Given the description of an element on the screen output the (x, y) to click on. 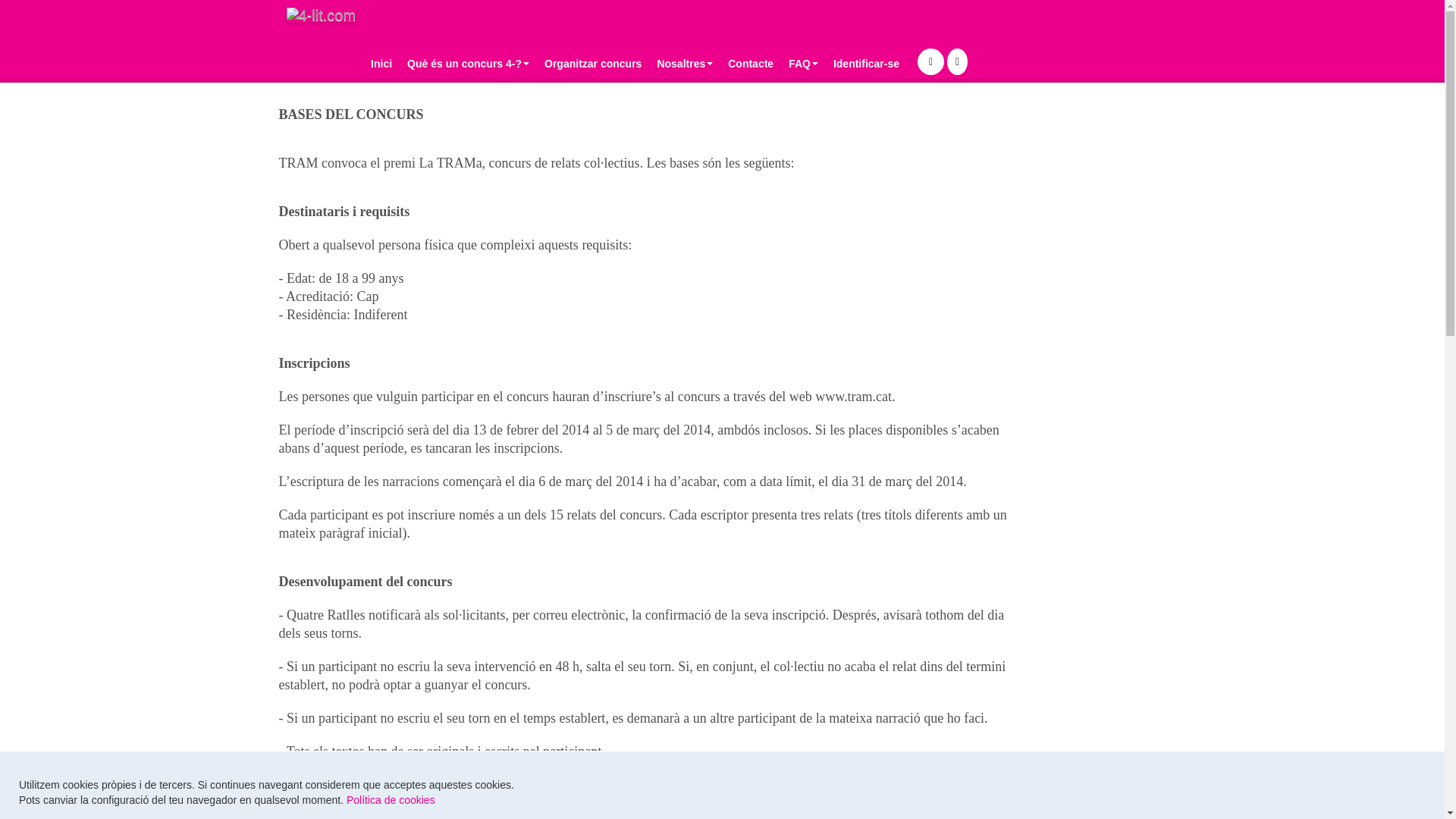
FAQ Element type: text (803, 63)
Inici Element type: text (381, 63)
Organitzar concurs Element type: text (592, 63)
Identificar-se Element type: text (865, 63)
Nosaltres Element type: text (684, 63)
Contacte Element type: text (750, 63)
